Given the description of an element on the screen output the (x, y) to click on. 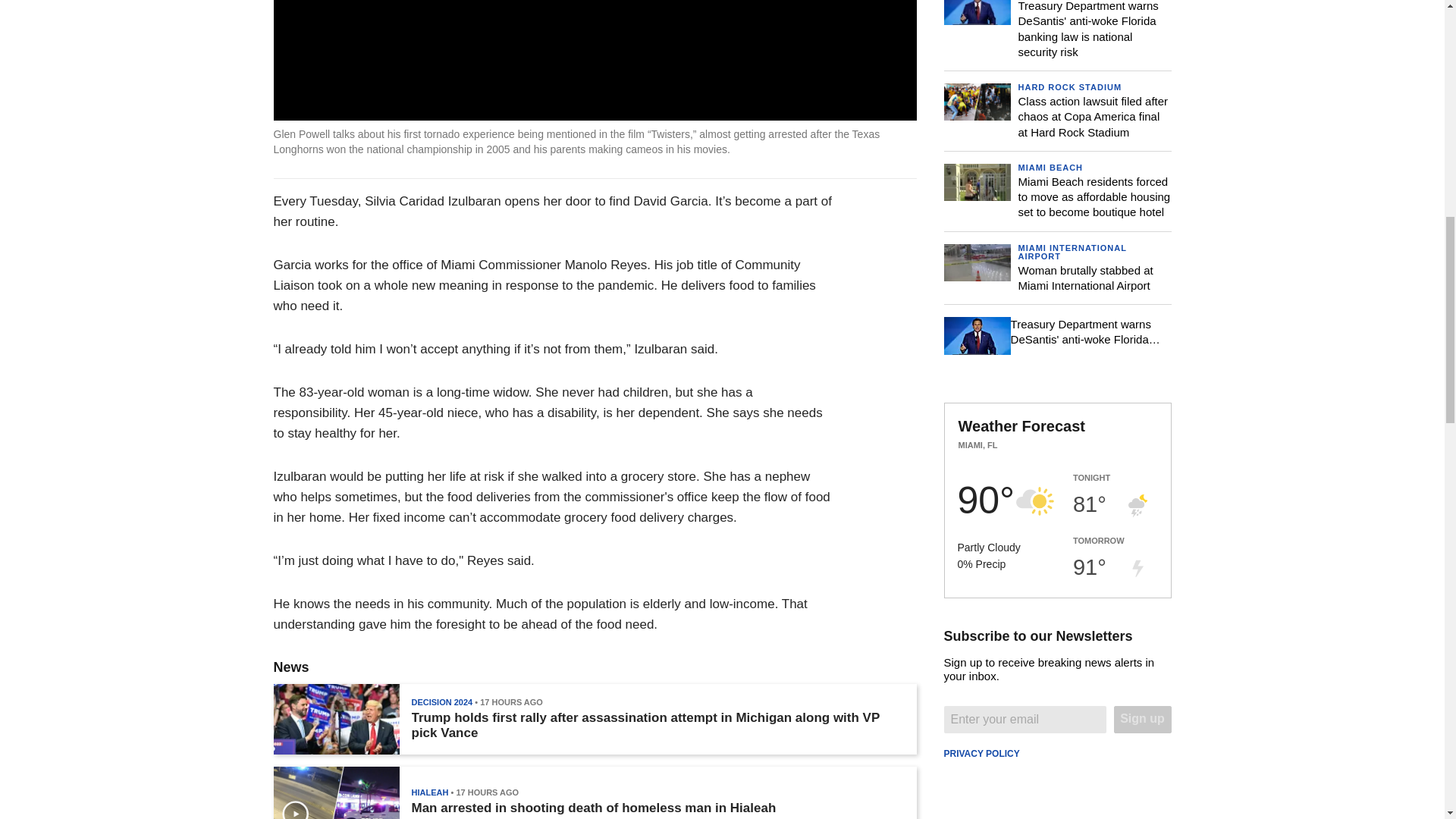
DECISION 2024 (440, 701)
Man arrested in shooting death of homeless man in Hialeah (593, 807)
HIALEAH (429, 791)
